Given the description of an element on the screen output the (x, y) to click on. 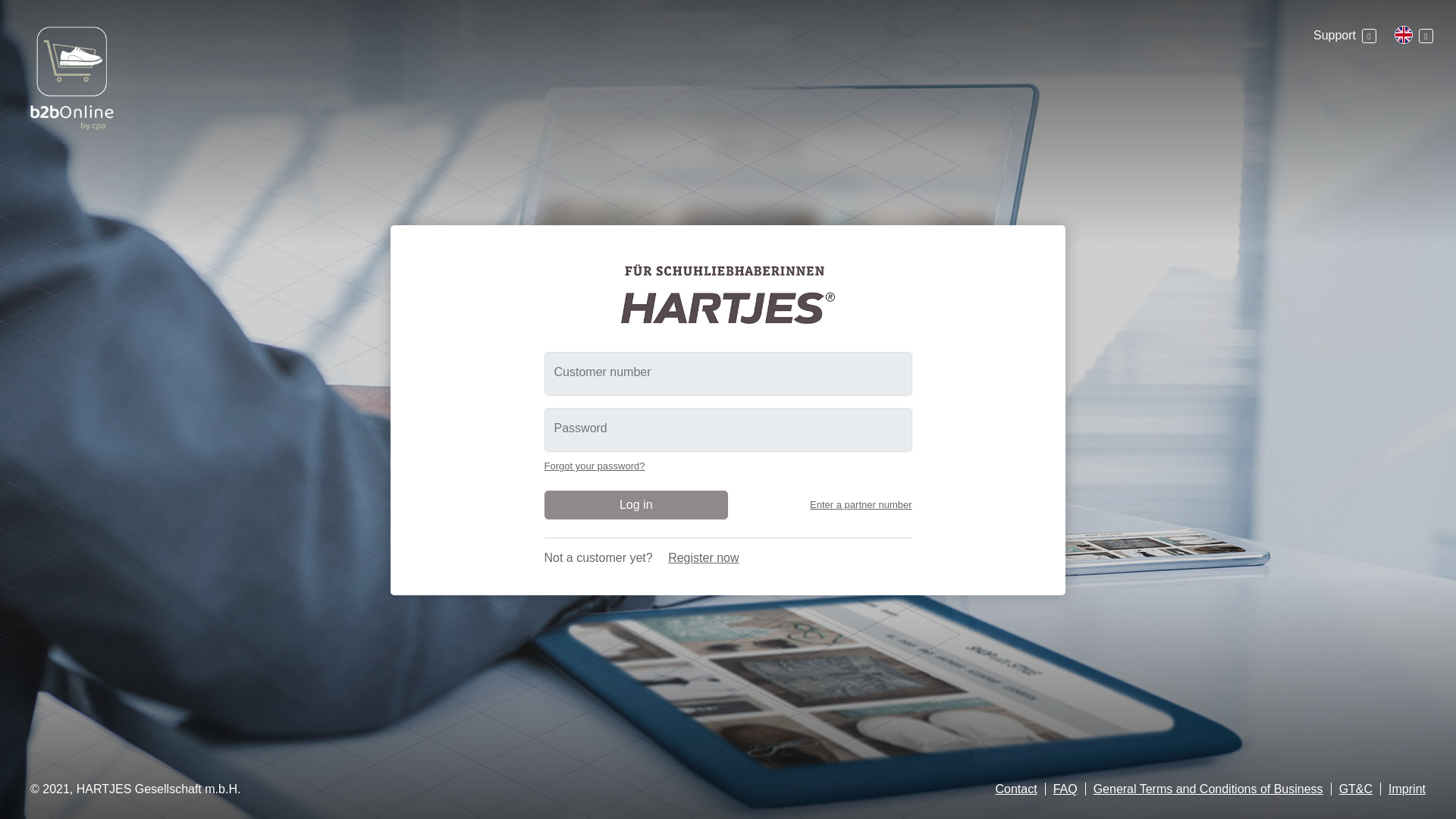
Log in (636, 504)
General Terms and Conditions of Business (1208, 788)
FAQ (1064, 788)
Imprint (1407, 788)
Go to start page (727, 292)
Enter a partner number (860, 504)
Contact (1015, 788)
Register now (703, 557)
Sprache wechseln (1413, 35)
Support (1344, 35)
